Given the description of an element on the screen output the (x, y) to click on. 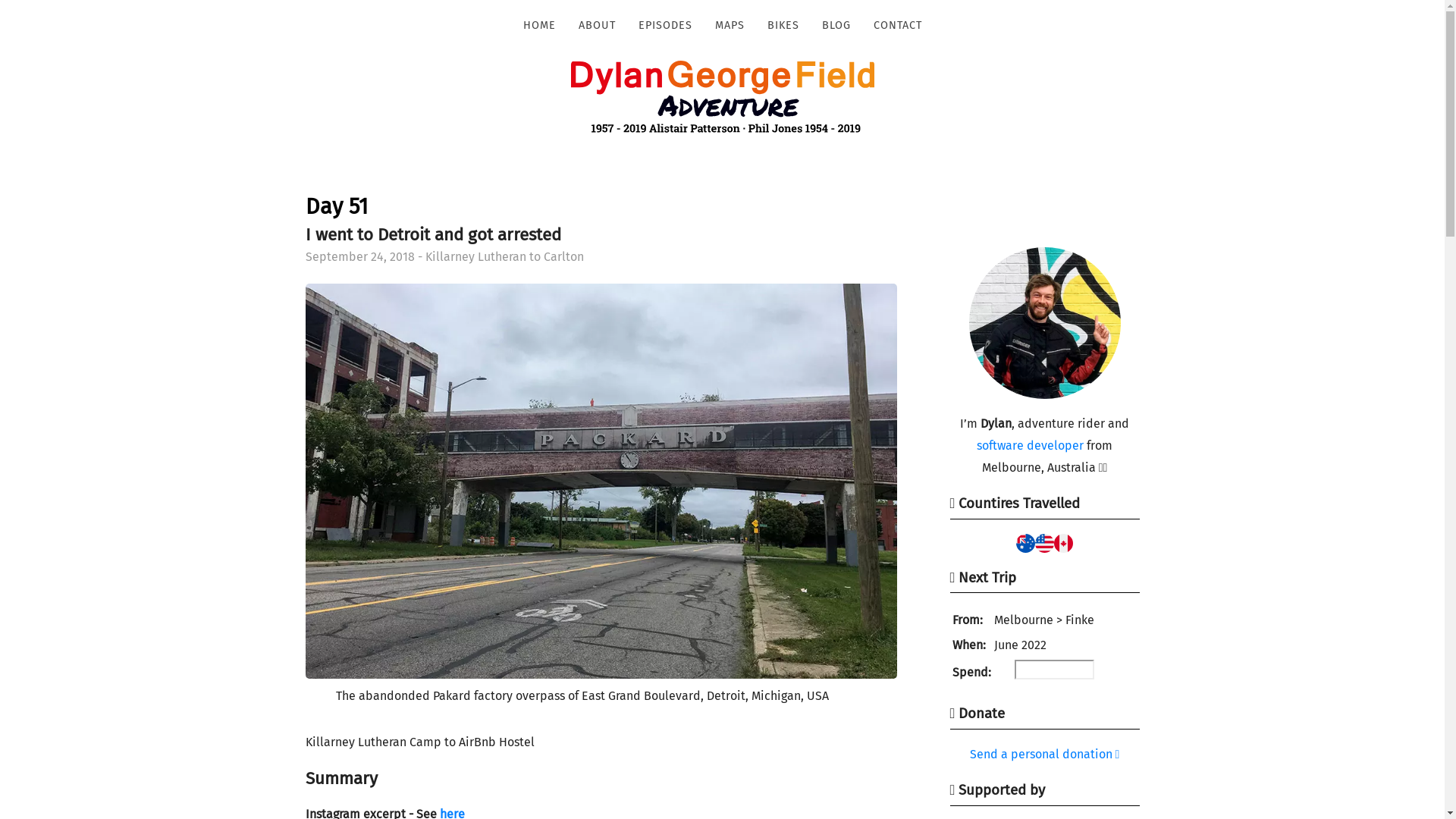
ABOUT Element type: text (597, 26)
BLOG Element type: text (835, 26)
HOME Element type: text (538, 26)
MAPS Element type: text (729, 26)
CONTACT Element type: text (896, 26)
BIKES Element type: text (782, 26)
Day 51 Element type: text (335, 206)
EPISODES Element type: text (664, 26)
software developer Element type: text (1029, 445)
